Given the description of an element on the screen output the (x, y) to click on. 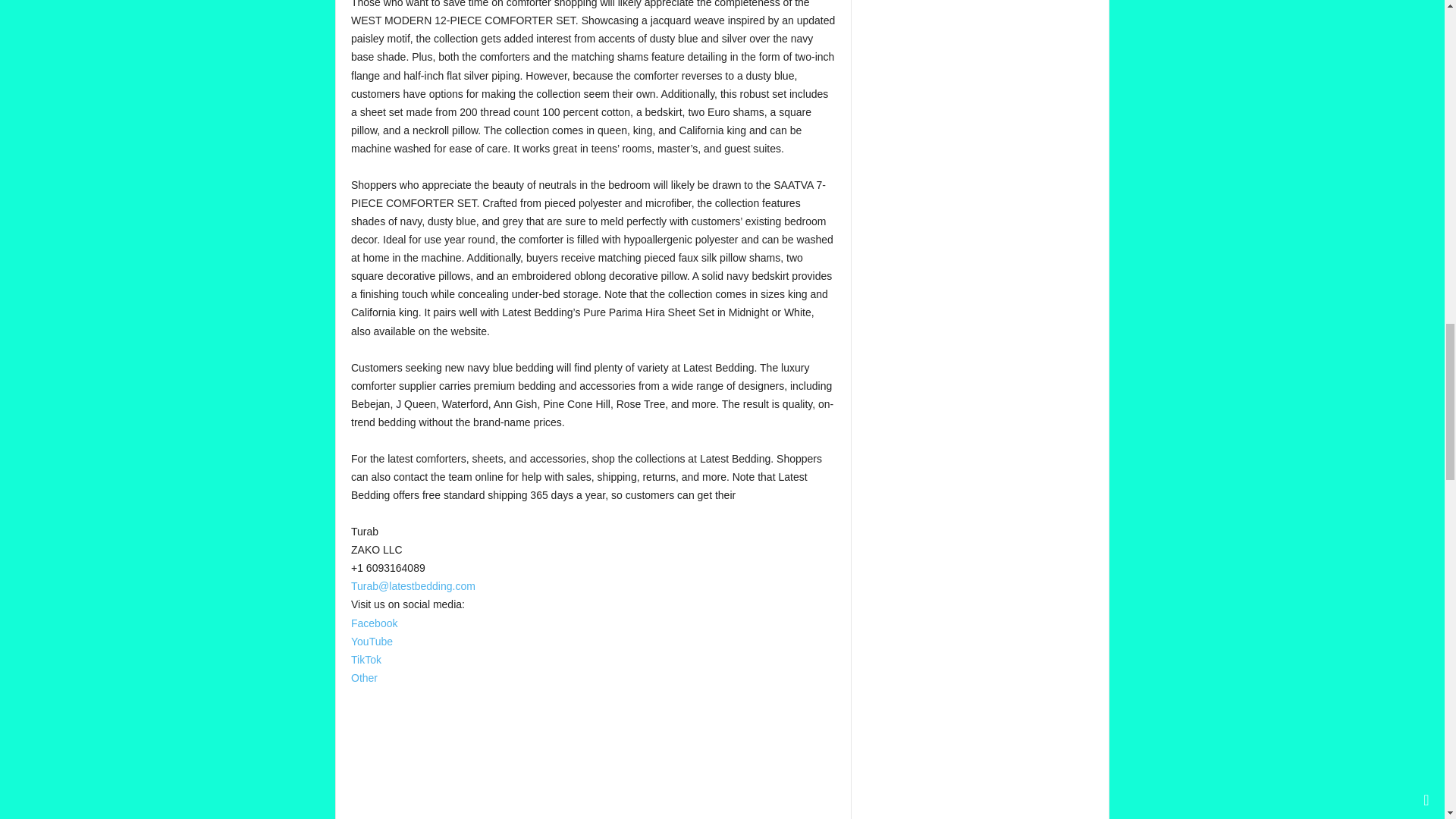
YouTube (371, 641)
TikTok (365, 659)
Facebook (373, 623)
